Given the description of an element on the screen output the (x, y) to click on. 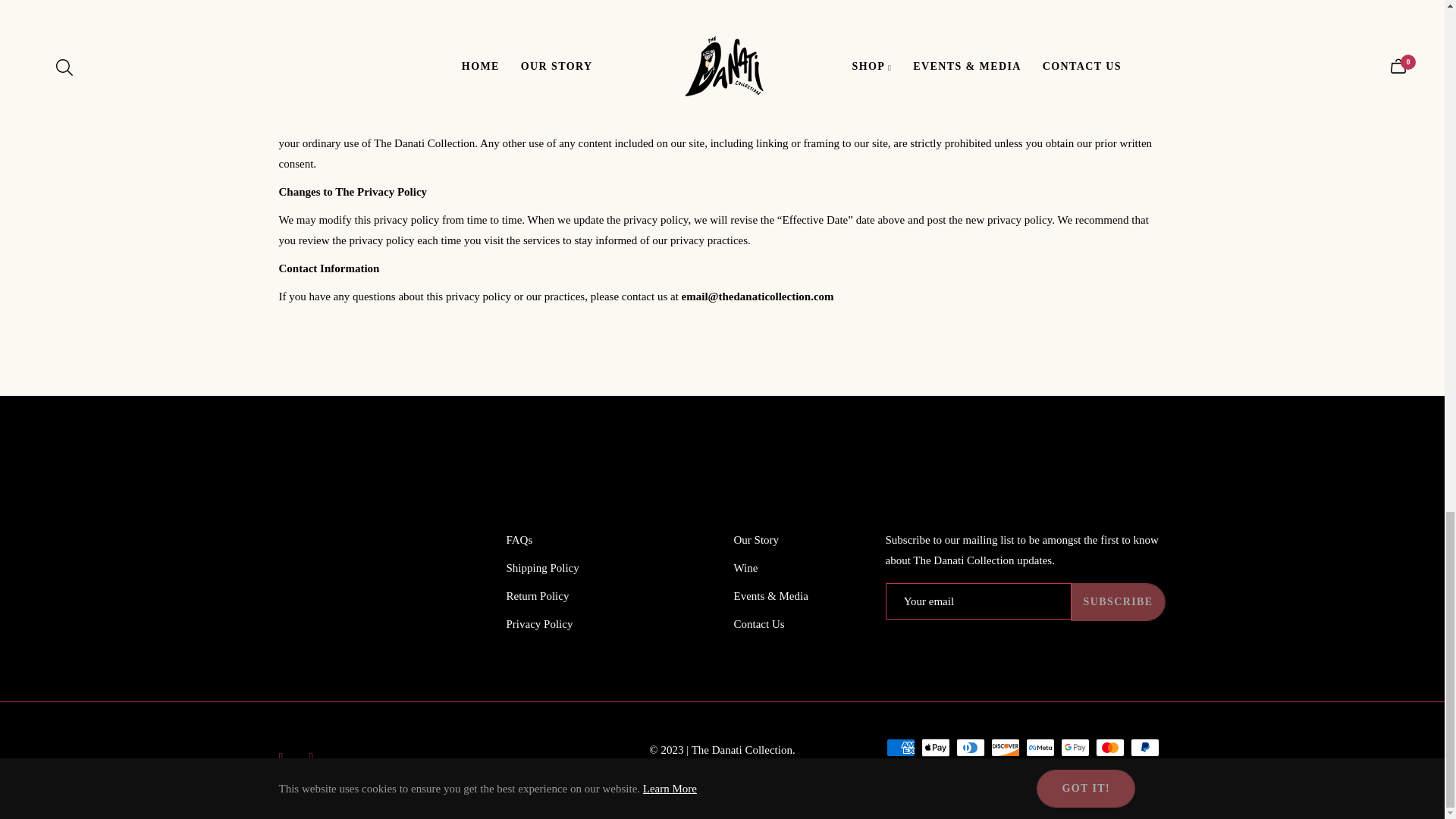
Contact Us (758, 623)
Wine (745, 567)
SUBSCRIBE (1118, 601)
FAQs (519, 539)
Shipping Policy (542, 567)
Privacy Policy (539, 623)
TBM Graphix (750, 770)
Return Policy (537, 595)
Our Story (755, 539)
